Given the description of an element on the screen output the (x, y) to click on. 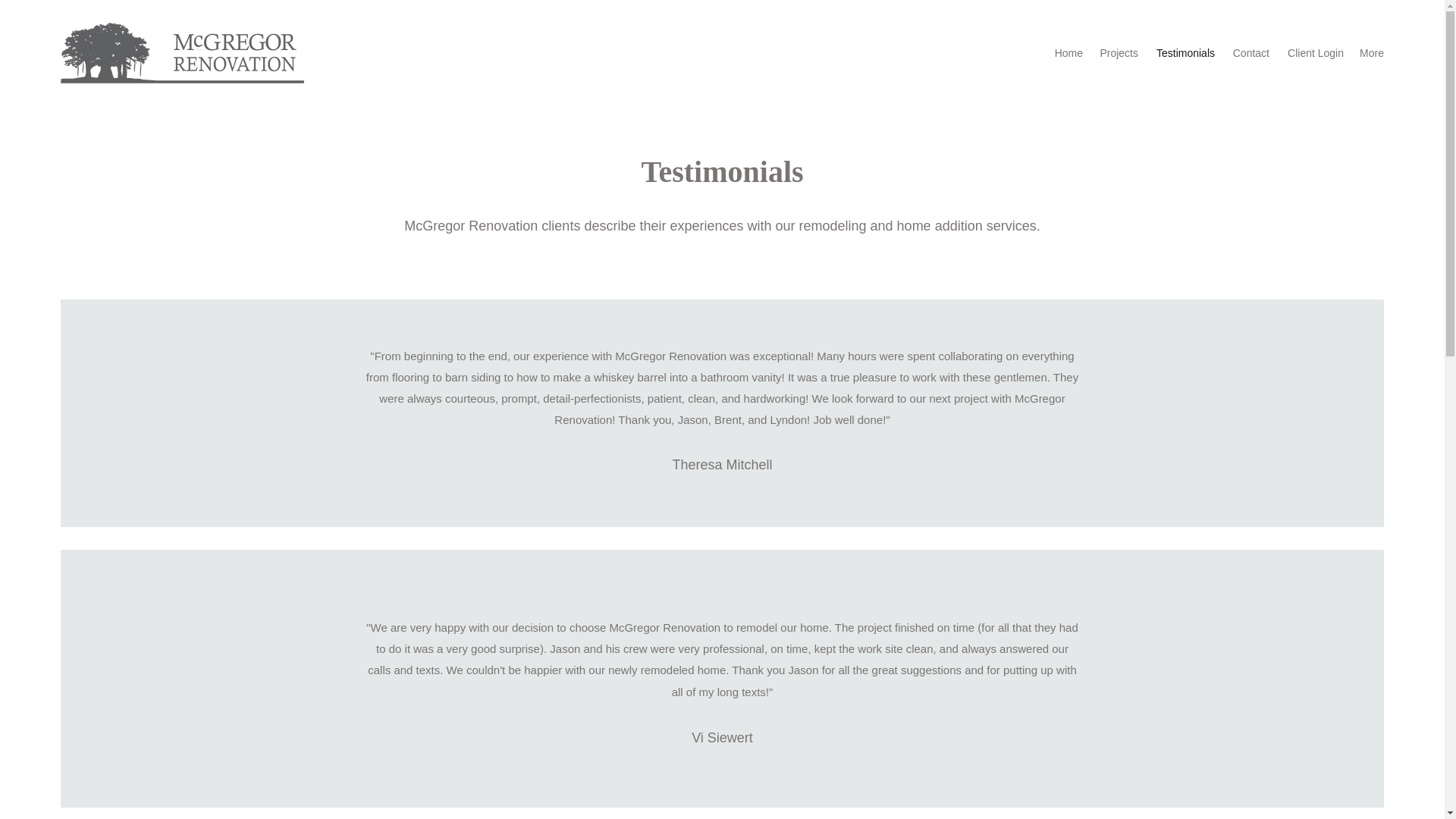
Testimonials (1184, 52)
Projects (1117, 52)
Home (1067, 52)
Client Login (1313, 52)
Contact (1249, 52)
